Given the description of an element on the screen output the (x, y) to click on. 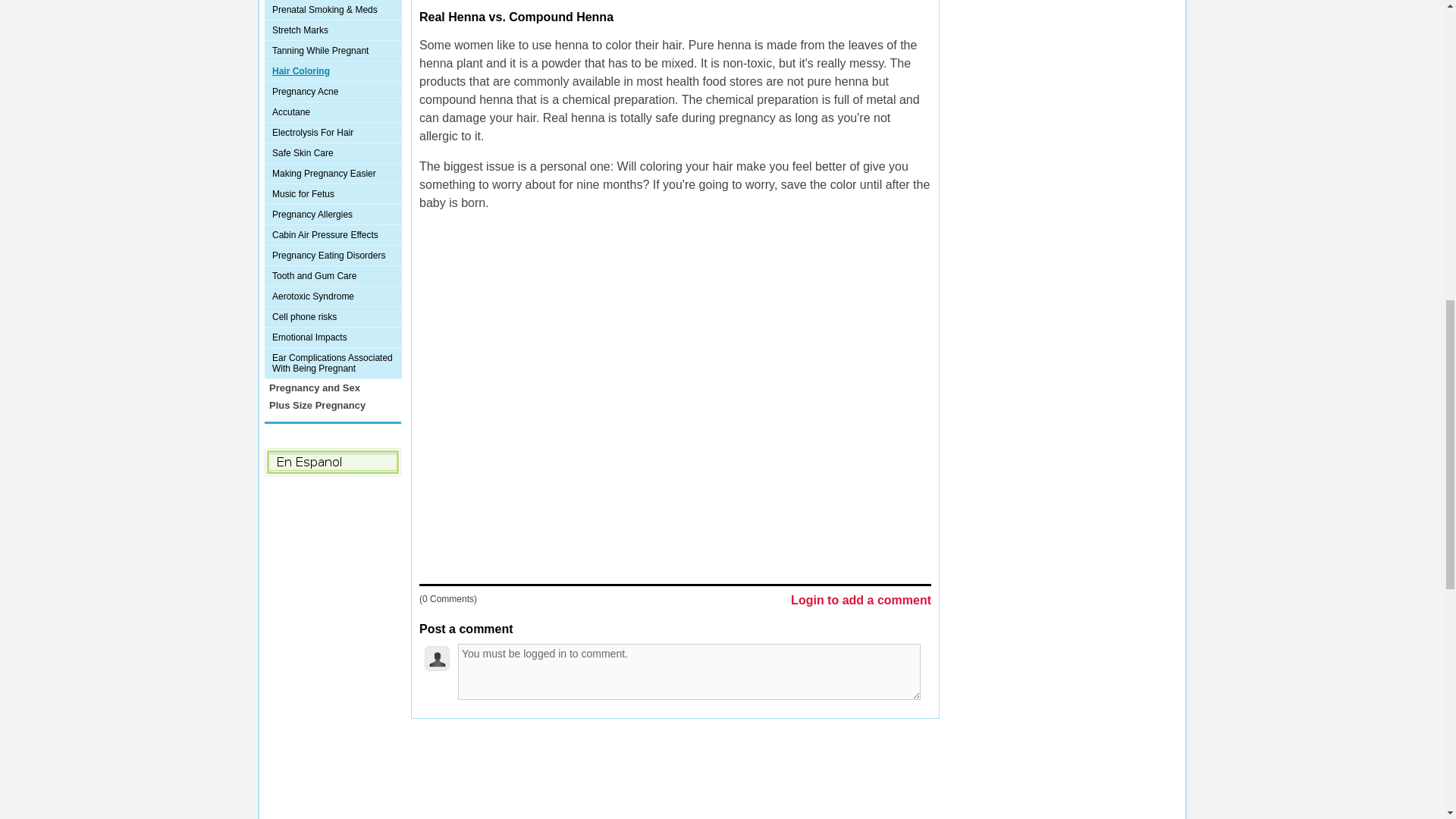
LOG IN (600, 748)
Login to add a comment (860, 601)
